Given the description of an element on the screen output the (x, y) to click on. 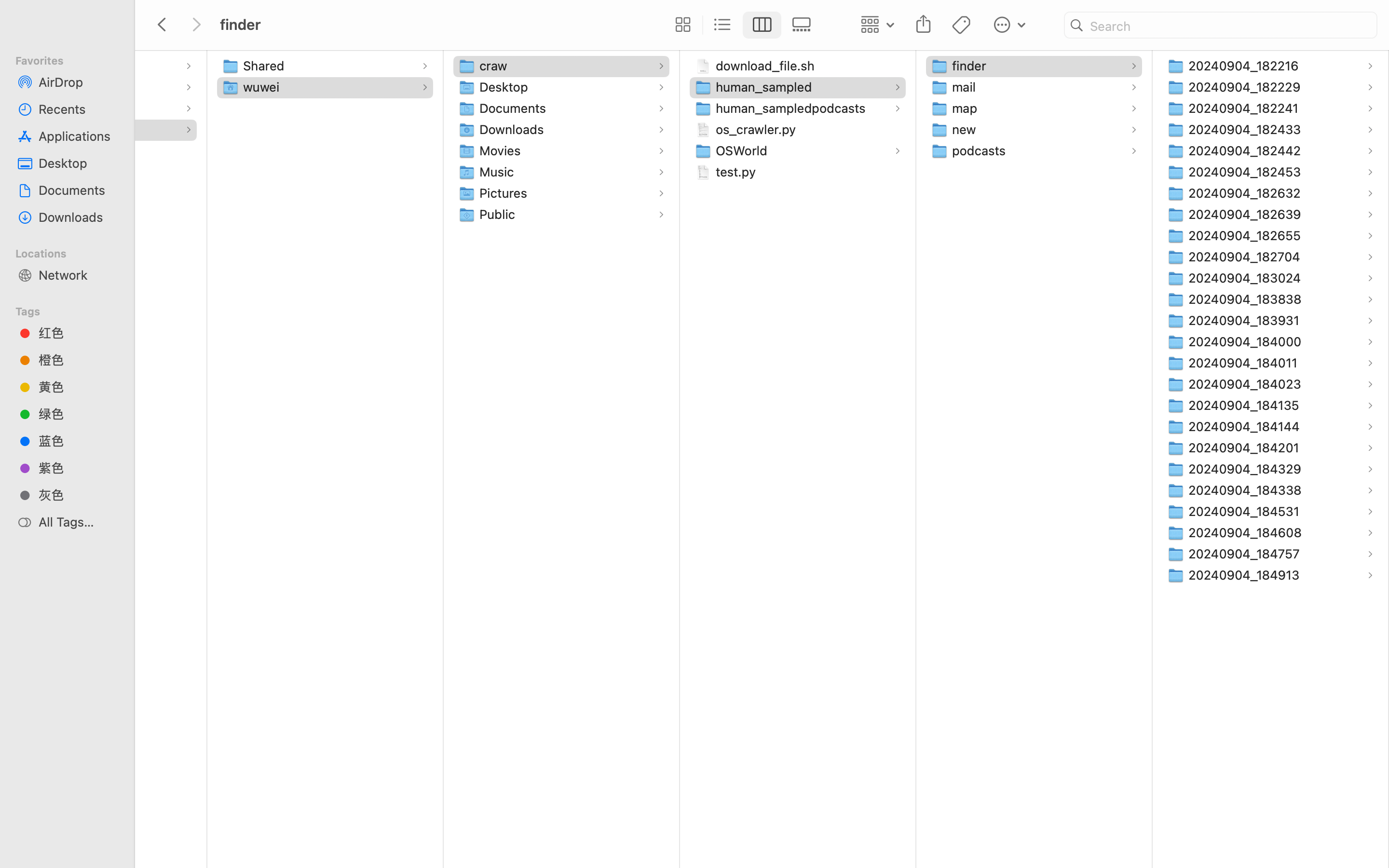
蓝色 Element type: AXStaticText (77, 440)
Applications Element type: AXStaticText (77, 135)
new Element type: AXTextField (965, 128)
20240904_184201 Element type: AXTextField (1245, 447)
绿色 Element type: AXStaticText (77, 413)
